Given the description of an element on the screen output the (x, y) to click on. 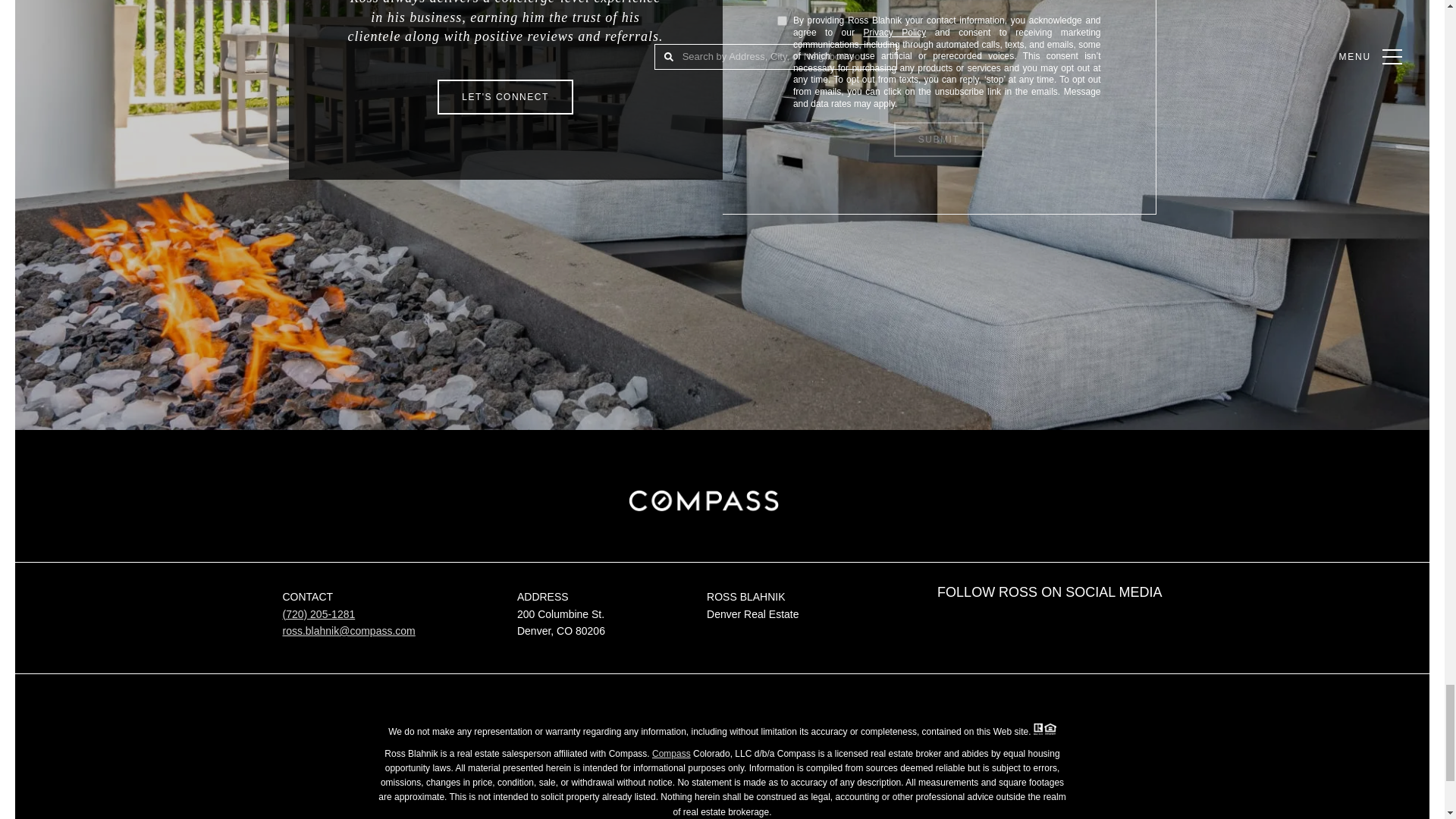
on (781, 20)
